Given the description of an element on the screen output the (x, y) to click on. 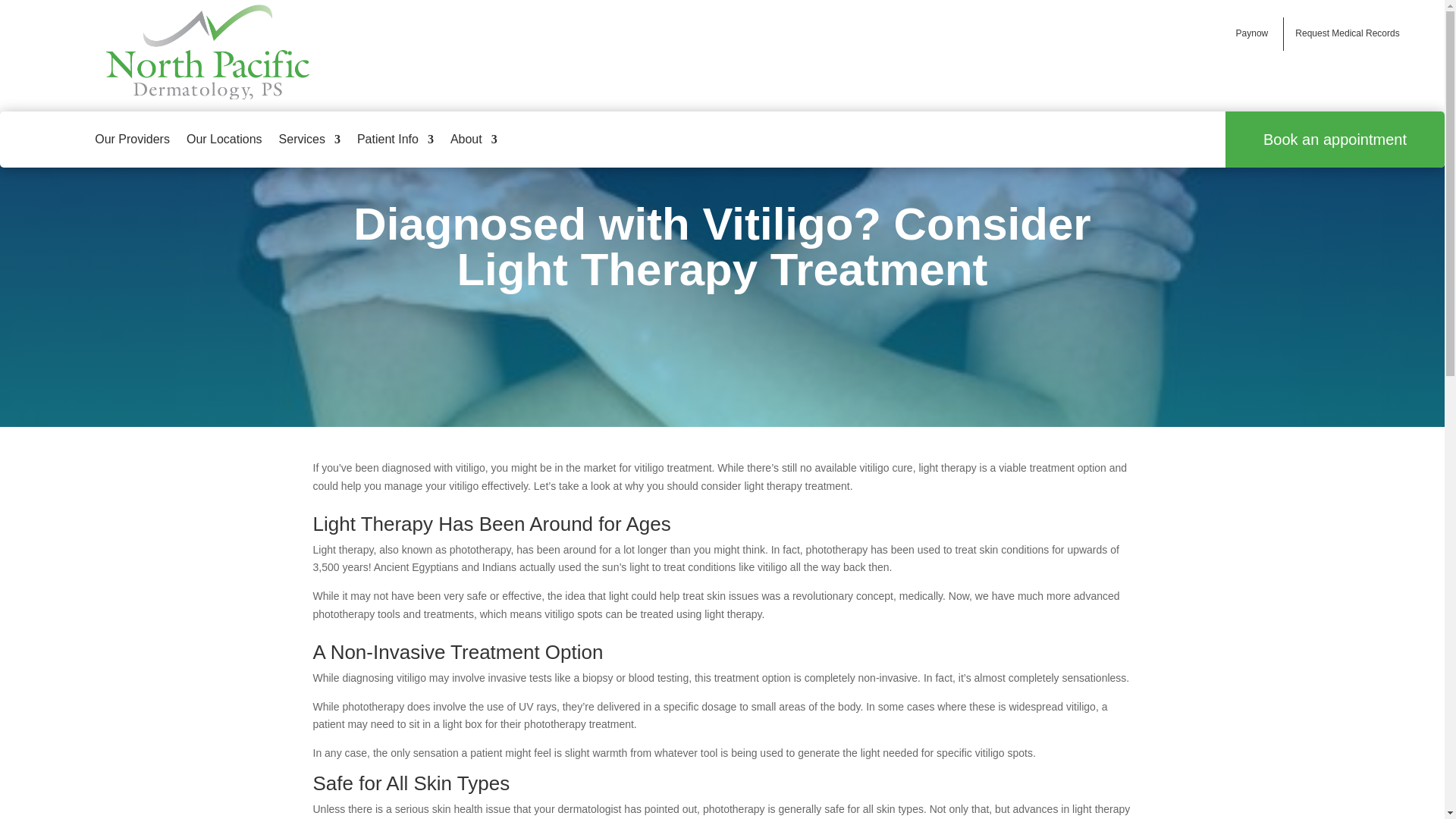
Patient Info (394, 139)
Our Providers (132, 139)
NorthPacificDermatology-logo (207, 51)
Our Locations (224, 139)
Services (309, 139)
